Given the description of an element on the screen output the (x, y) to click on. 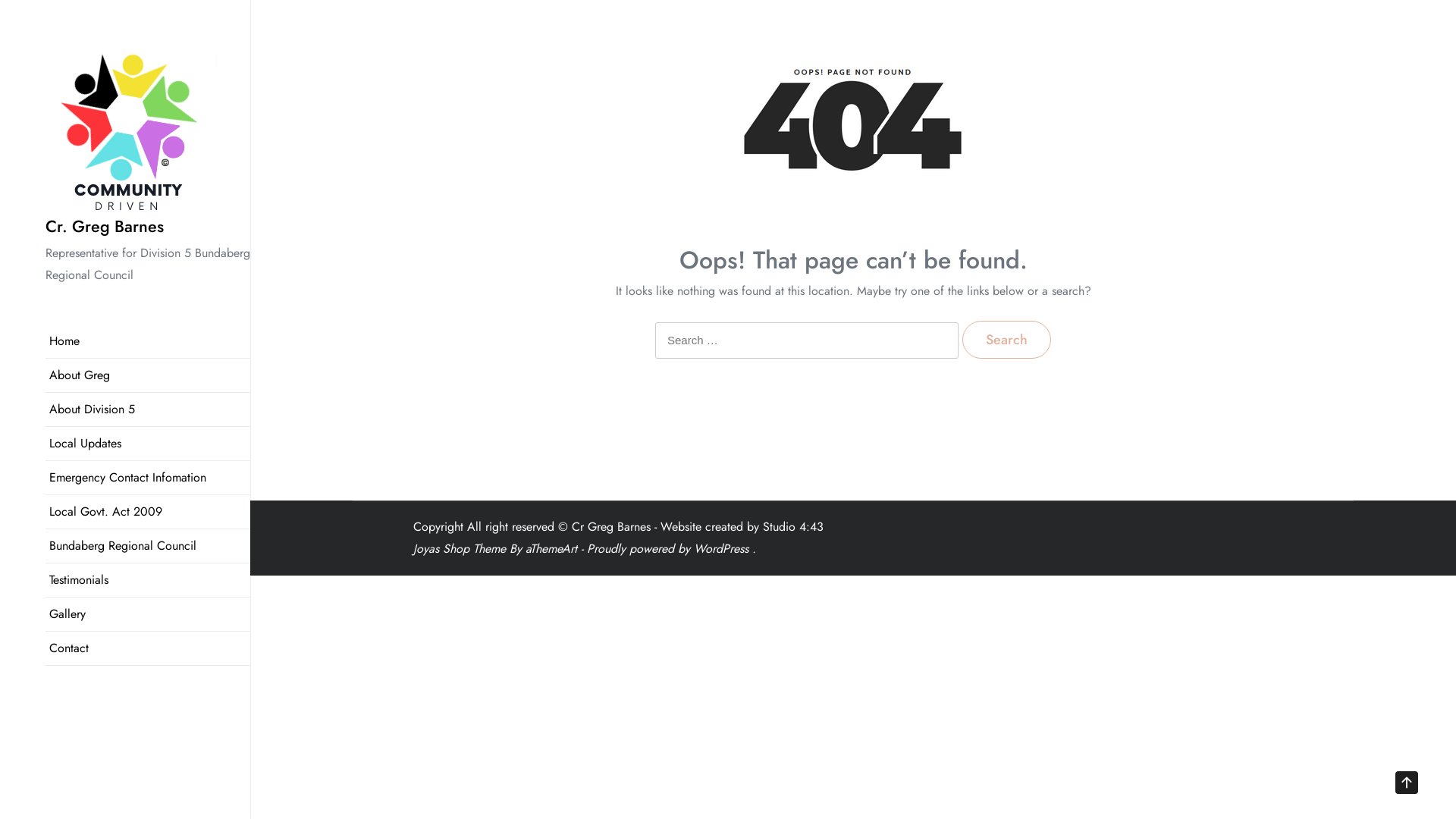
Home Element type: text (147, 341)
Contact Element type: text (147, 647)
About Greg Element type: text (147, 374)
WordPress Element type: text (720, 548)
Testimonials Element type: text (147, 579)
Bundaberg Regional Council Element type: text (147, 546)
About Division 5 Element type: text (147, 409)
Search Element type: text (1006, 339)
Local Updates Element type: text (147, 443)
Emergency Contact Infomation Element type: text (147, 478)
Cr. Greg Barnes Element type: text (104, 226)
Gallery Element type: text (147, 614)
Local Govt. Act 2009 Element type: text (147, 511)
Joyas Shop Theme Element type: text (458, 548)
